Given the description of an element on the screen output the (x, y) to click on. 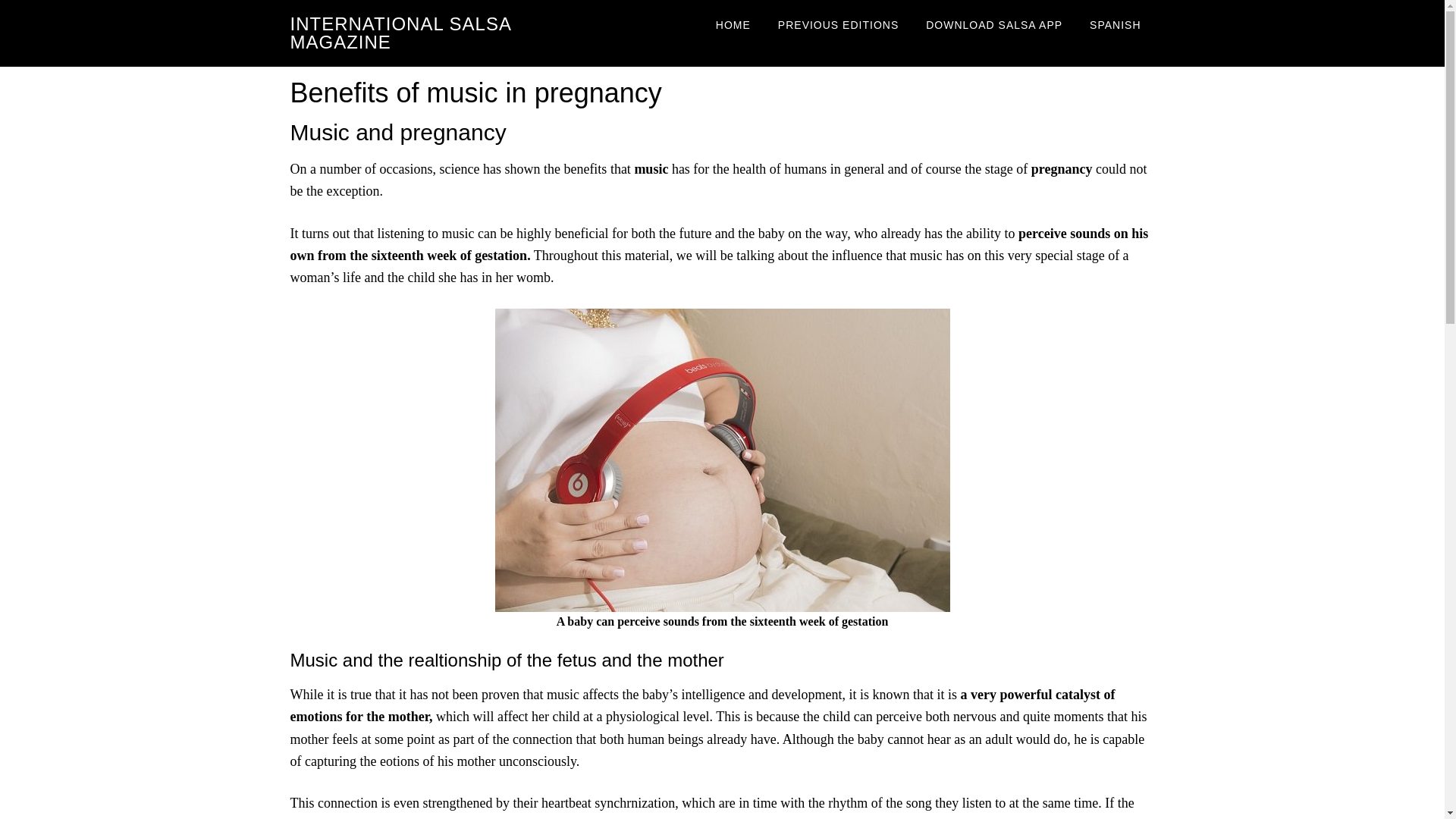
INTERNATIONAL SALSA MAGAZINE (400, 32)
PREVIOUS EDITIONS (838, 24)
HOME (732, 24)
